Given the description of an element on the screen output the (x, y) to click on. 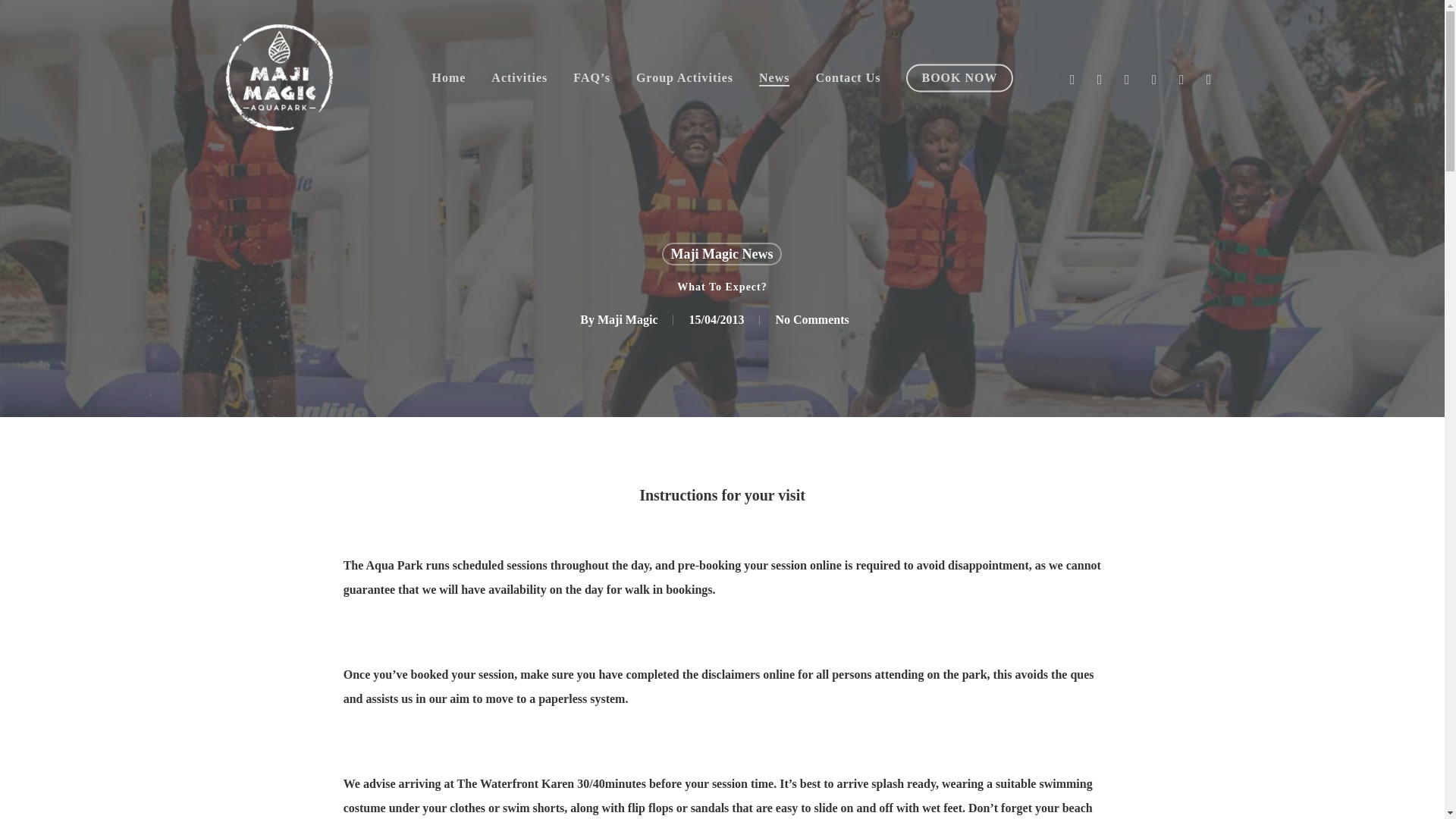
Contact Us (847, 78)
facebook (1099, 77)
phone (1209, 77)
Home (447, 78)
News (773, 78)
Activities (519, 78)
No Comments (811, 318)
Maji Magic (627, 318)
youtube (1126, 77)
twitter (1072, 77)
